Given the description of an element on the screen output the (x, y) to click on. 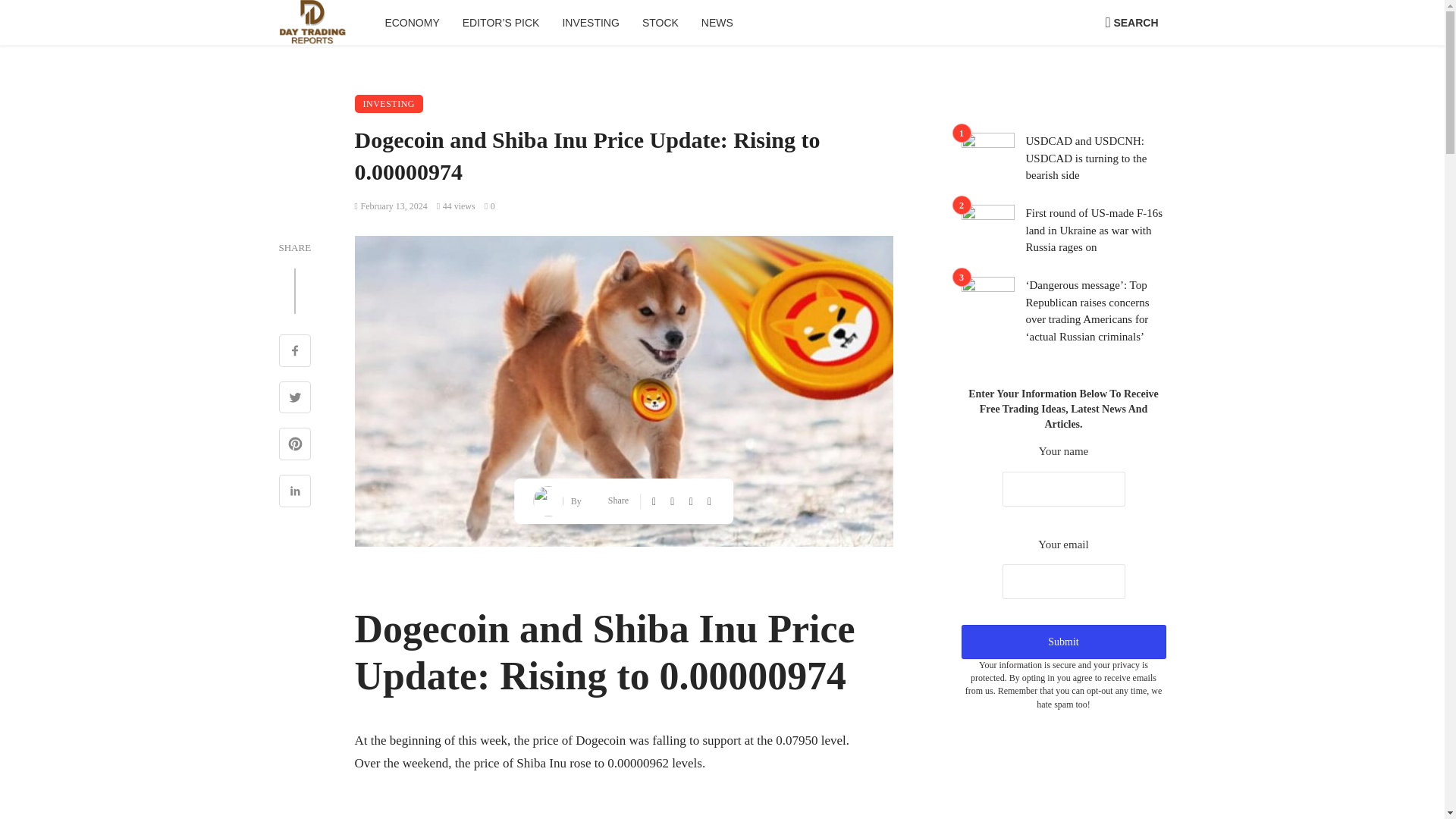
INVESTING (389, 104)
Submit (1063, 641)
February 13, 2024 at 11:59 am (391, 205)
0 Comments (489, 205)
Share on Facebook (295, 352)
0 (489, 205)
ECONOMY (410, 22)
Share on Twitter (295, 399)
NEWS (717, 22)
Share on Pinterest (295, 445)
INVESTING (590, 22)
Share on Linkedin (295, 493)
SEARCH (1131, 22)
STOCK (660, 22)
